Given the description of an element on the screen output the (x, y) to click on. 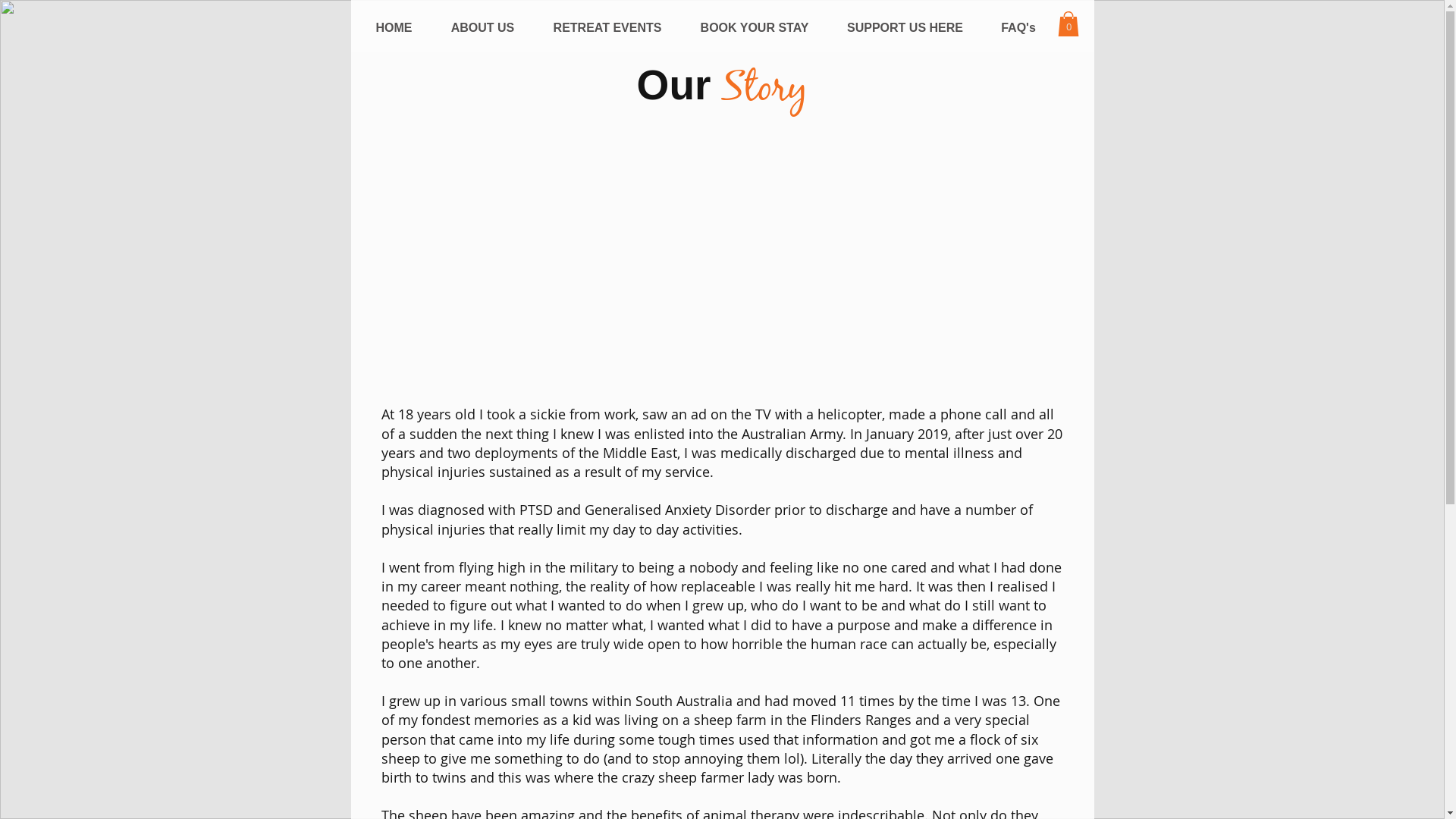
SUPPORT US HERE Element type: text (905, 27)
RETREAT EVENTS Element type: text (606, 27)
HOME Element type: text (393, 27)
0 Element type: text (1067, 23)
ABOUT US Element type: text (481, 27)
BOOK YOUR STAY Element type: text (754, 27)
FAQ's Element type: text (1017, 27)
